Given the description of an element on the screen output the (x, y) to click on. 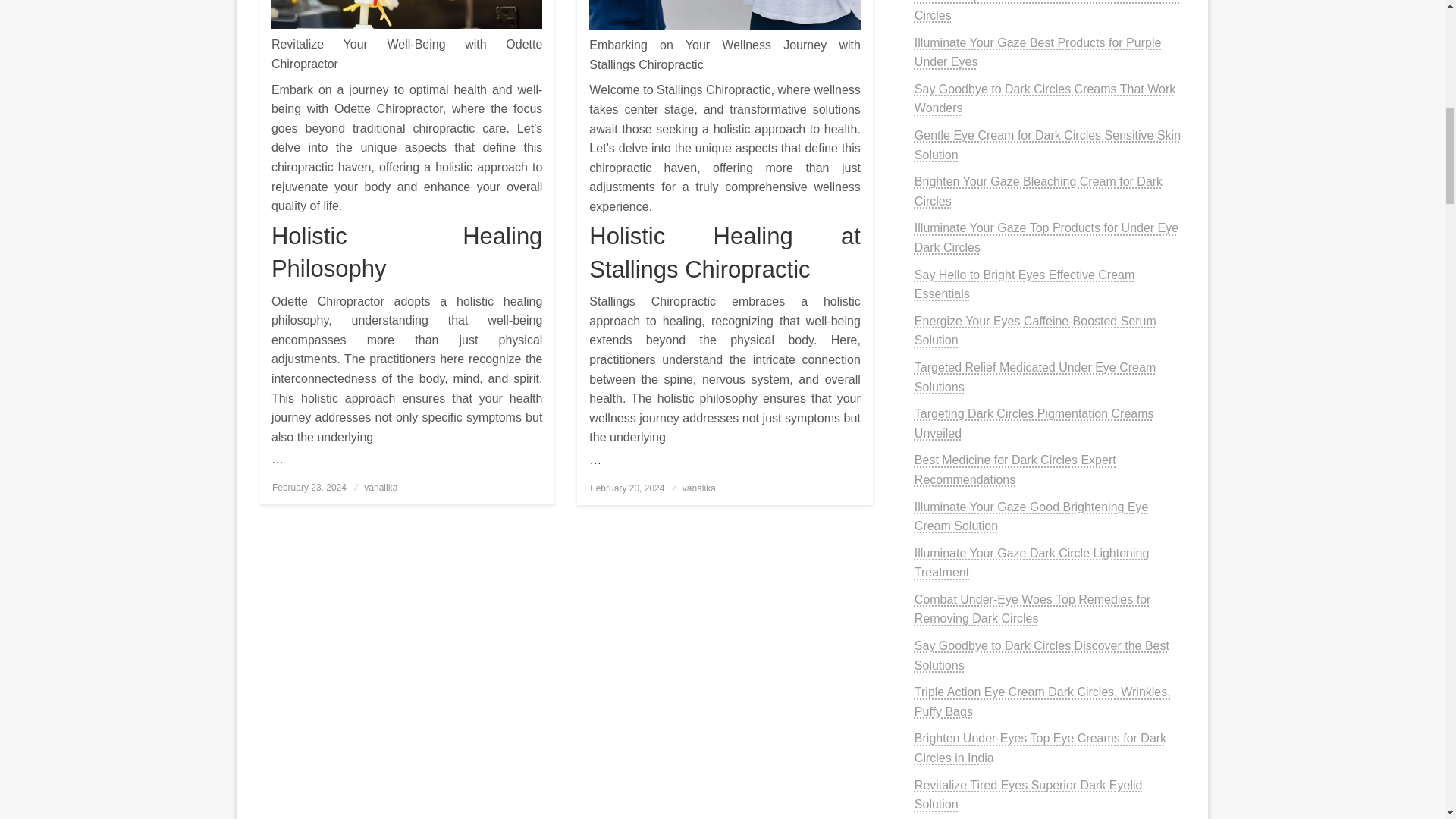
Gentle Eye Cream for Dark Circles Sensitive Skin Solution (1047, 144)
Best Medicine for Dark Circles Expert Recommendations (1015, 469)
vanalika (699, 488)
Effective Eye Creams for Sensitive Skin and Dark Circles (1047, 11)
vanalika (380, 487)
Combat Under-Eye Woes Top Remedies for Removing Dark Circles (1032, 608)
Illuminate Your Gaze Dark Circle Lightening Treatment (1032, 563)
Say Hello to Bright Eyes Effective Cream Essentials (1024, 284)
Targeting Dark Circles Pigmentation Creams Unveiled (1034, 423)
Say Goodbye to Dark Circles Creams That Work Wonders (1044, 98)
Targeted Relief Medicated Under Eye Cream Solutions (1035, 377)
Energize Your Eyes Caffeine-Boosted Serum Solution (1035, 330)
vanalika (380, 487)
February 20, 2024 (626, 488)
Illuminate Your Gaze Best Products for Purple Under Eyes (1037, 52)
